Given the description of an element on the screen output the (x, y) to click on. 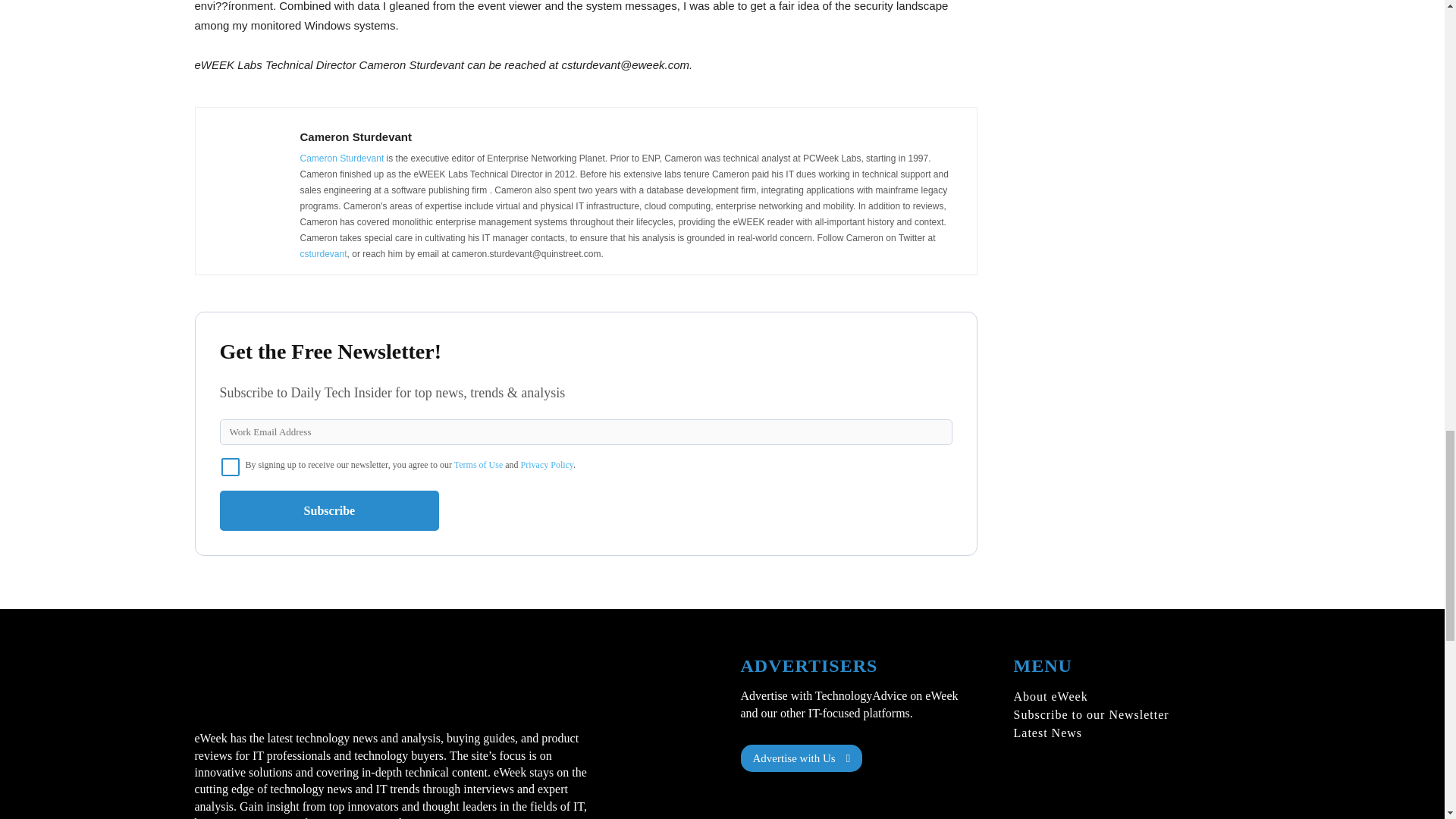
on (230, 466)
